Given the description of an element on the screen output the (x, y) to click on. 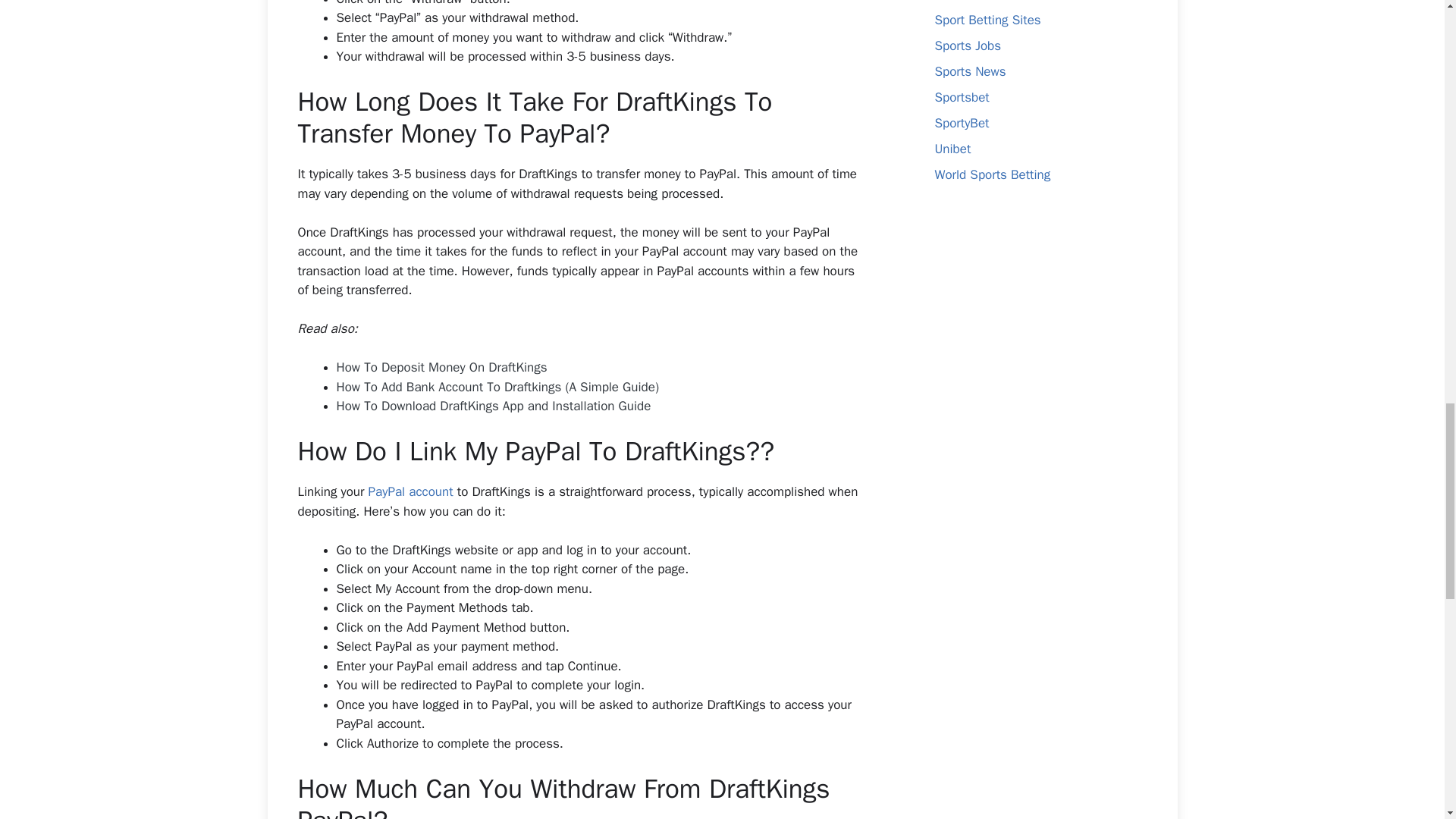
PayPal account (410, 491)
How To Deposit Money On DraftKings (441, 367)
How To Download DraftKings App and Installation Guide (493, 406)
